Given the description of an element on the screen output the (x, y) to click on. 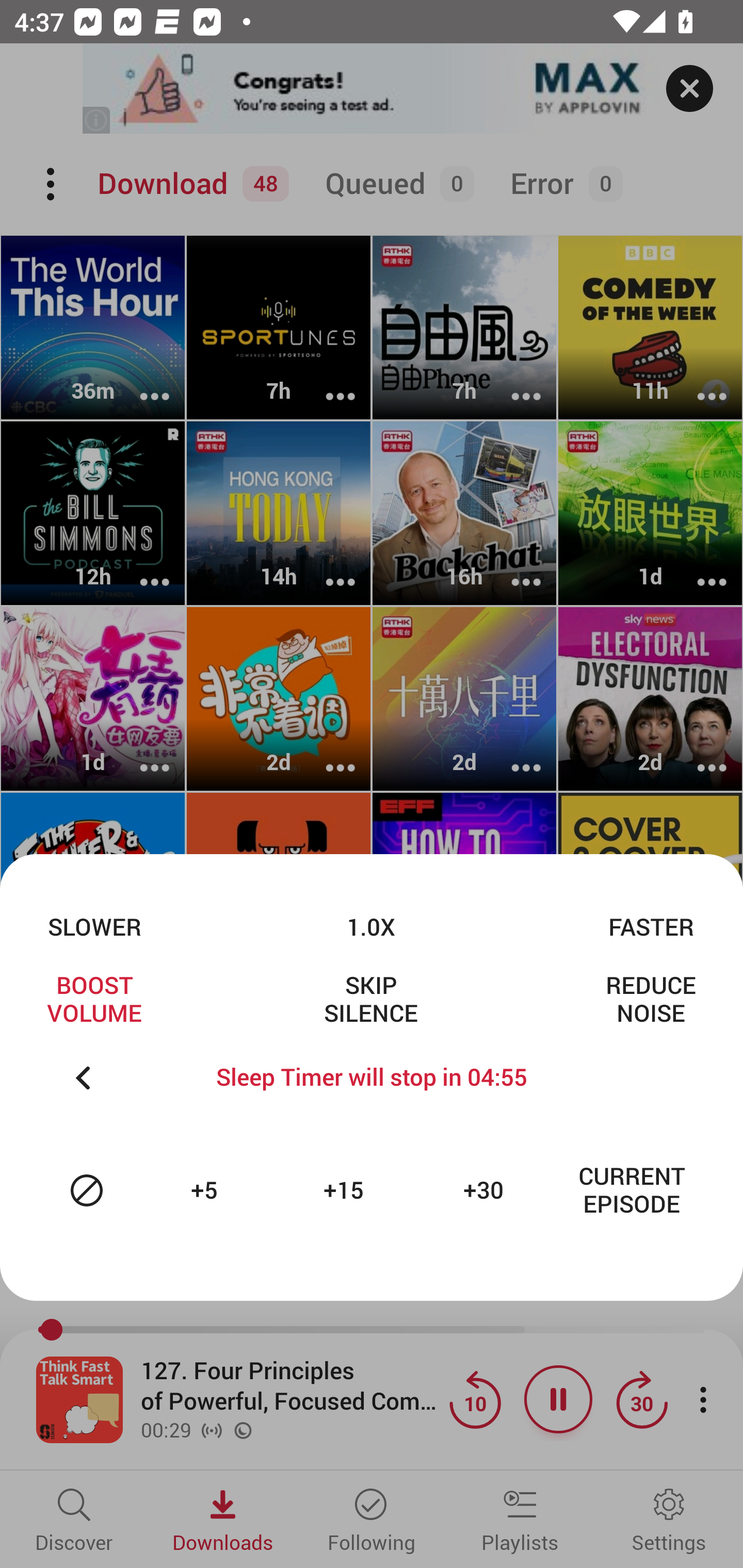
SLOWER (94, 926)
1.0X (370, 926)
FASTER (650, 926)
BOOST
VOLUME (94, 998)
SKIP
SILENCE (370, 998)
REDUCE
NOISE (650, 998)
Reset (86, 1190)
+5  (206, 1190)
+15  (346, 1190)
+30  (486, 1190)
CURRENT
EPISODE (631, 1190)
